Given the description of an element on the screen output the (x, y) to click on. 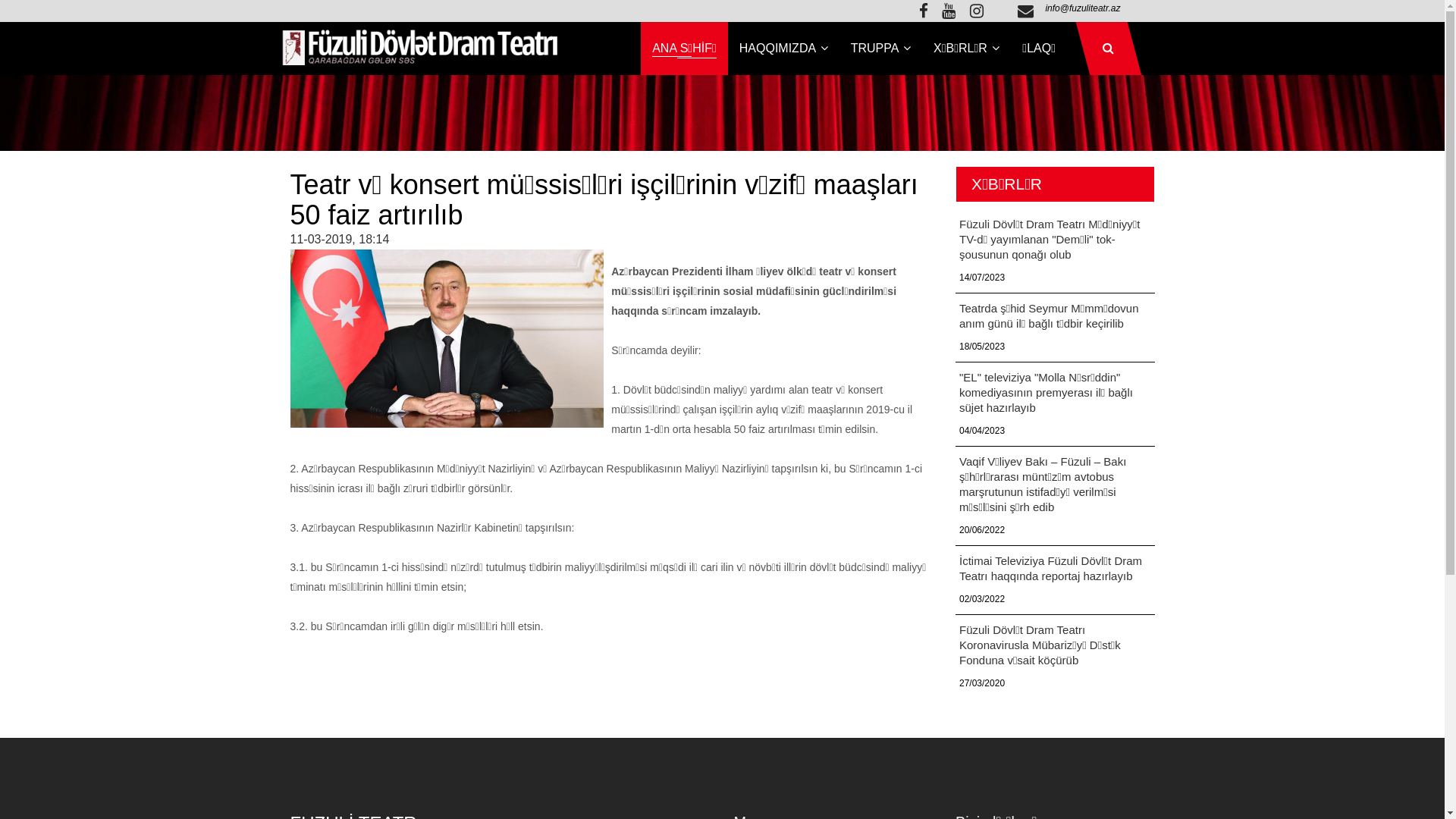
TRUPPA Element type: text (880, 48)
HAQQIMIZDA Element type: text (783, 48)
11-03-2019, 18:14 Element type: text (339, 238)
